Given the description of an element on the screen output the (x, y) to click on. 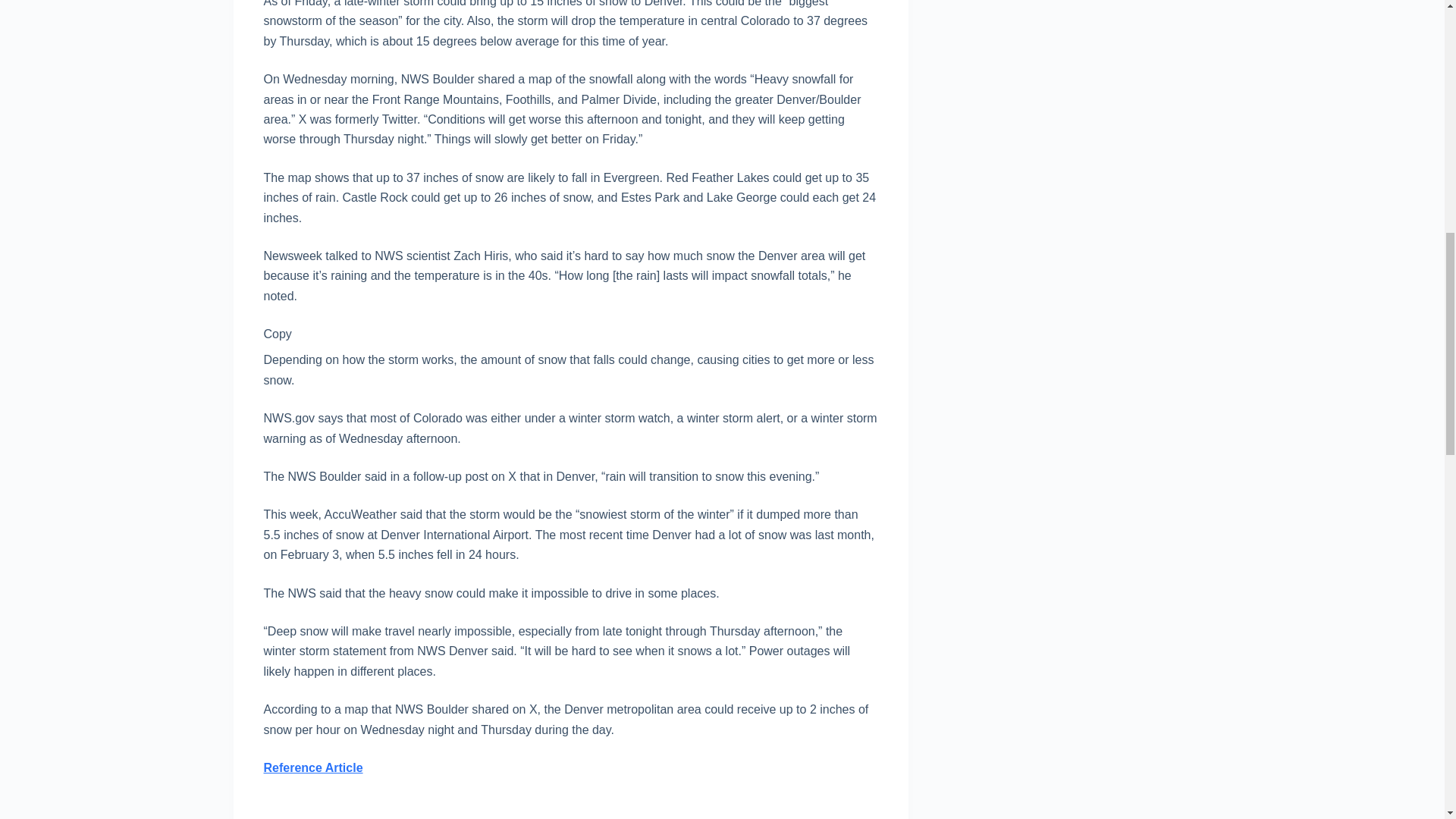
Reference Article (312, 767)
